Given the description of an element on the screen output the (x, y) to click on. 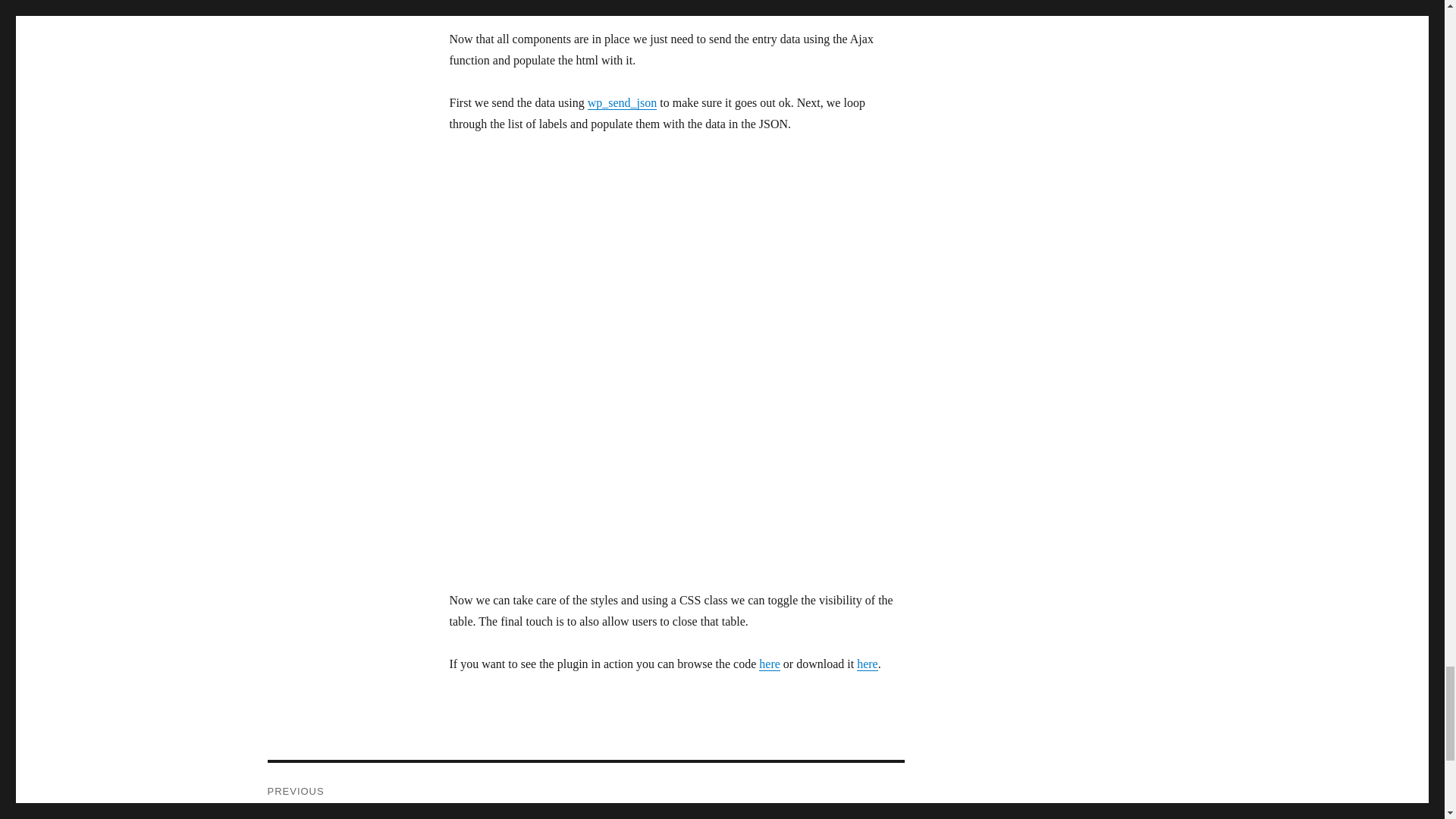
here (867, 663)
here (769, 663)
